Given the description of an element on the screen output the (x, y) to click on. 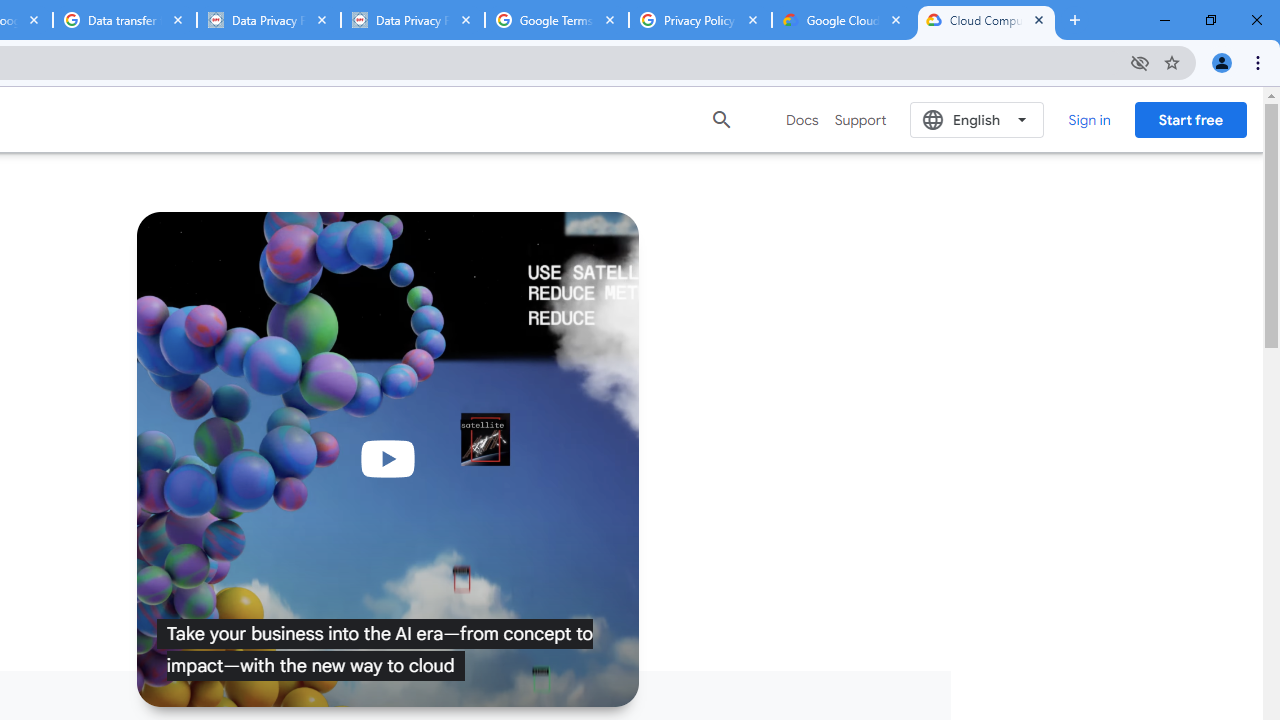
Cloud Computing Services | Google Cloud (986, 20)
Data Privacy Framework (412, 20)
